Given the description of an element on the screen output the (x, y) to click on. 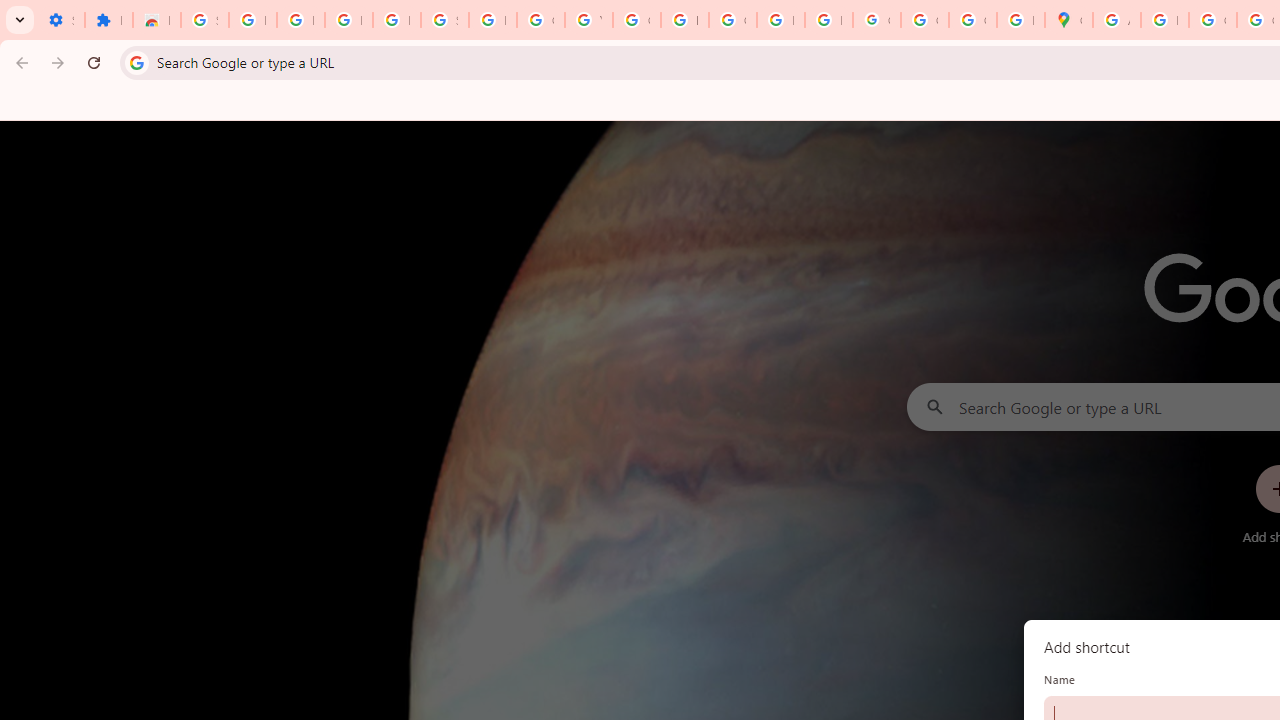
Google Account (540, 20)
https://scholar.google.com/ (684, 20)
Create your Google Account (1212, 20)
Delete photos & videos - Computer - Google Photos Help (300, 20)
YouTube (588, 20)
